Given the description of an element on the screen output the (x, y) to click on. 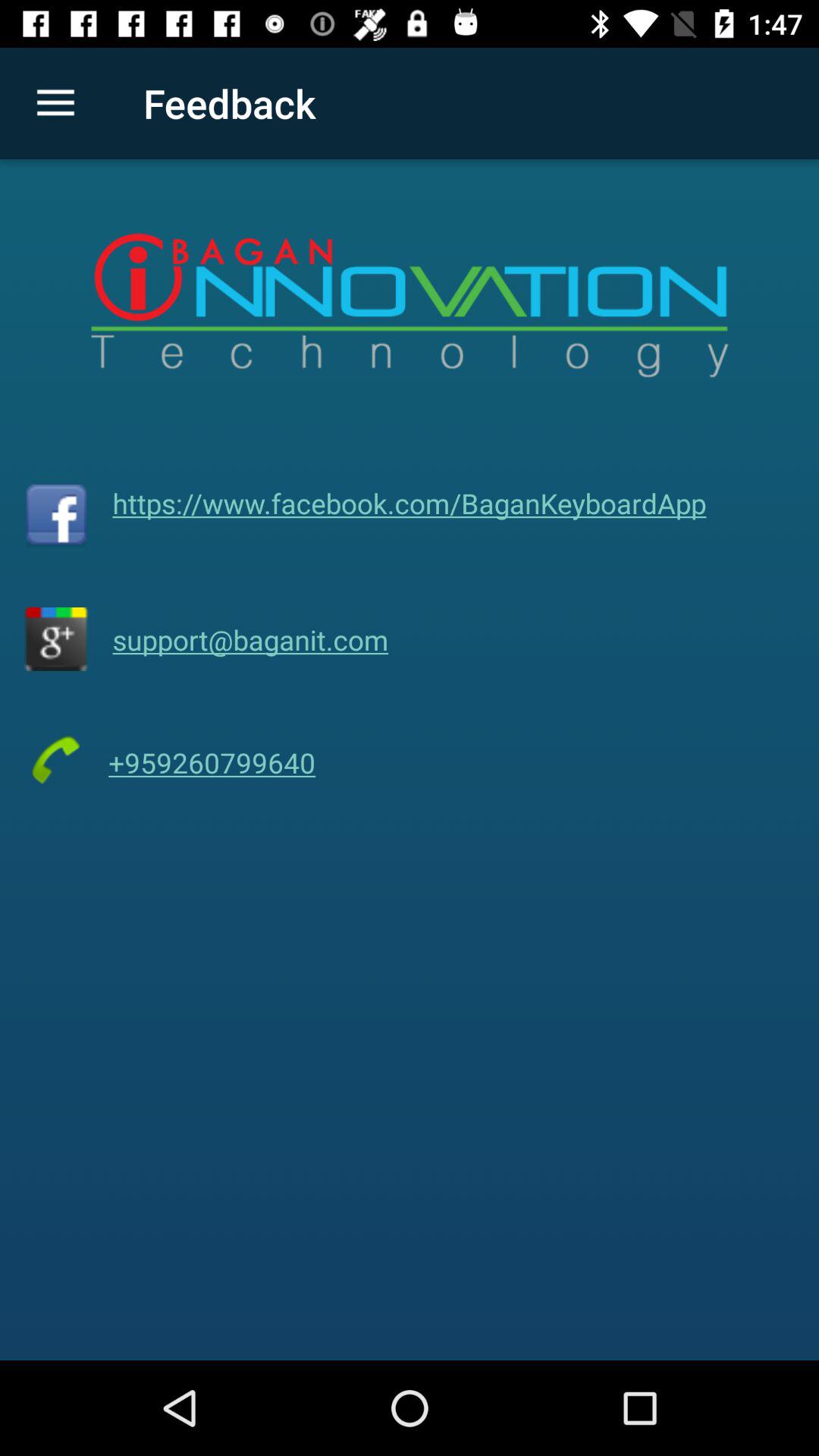
flip to +959260799640 (211, 762)
